Given the description of an element on the screen output the (x, y) to click on. 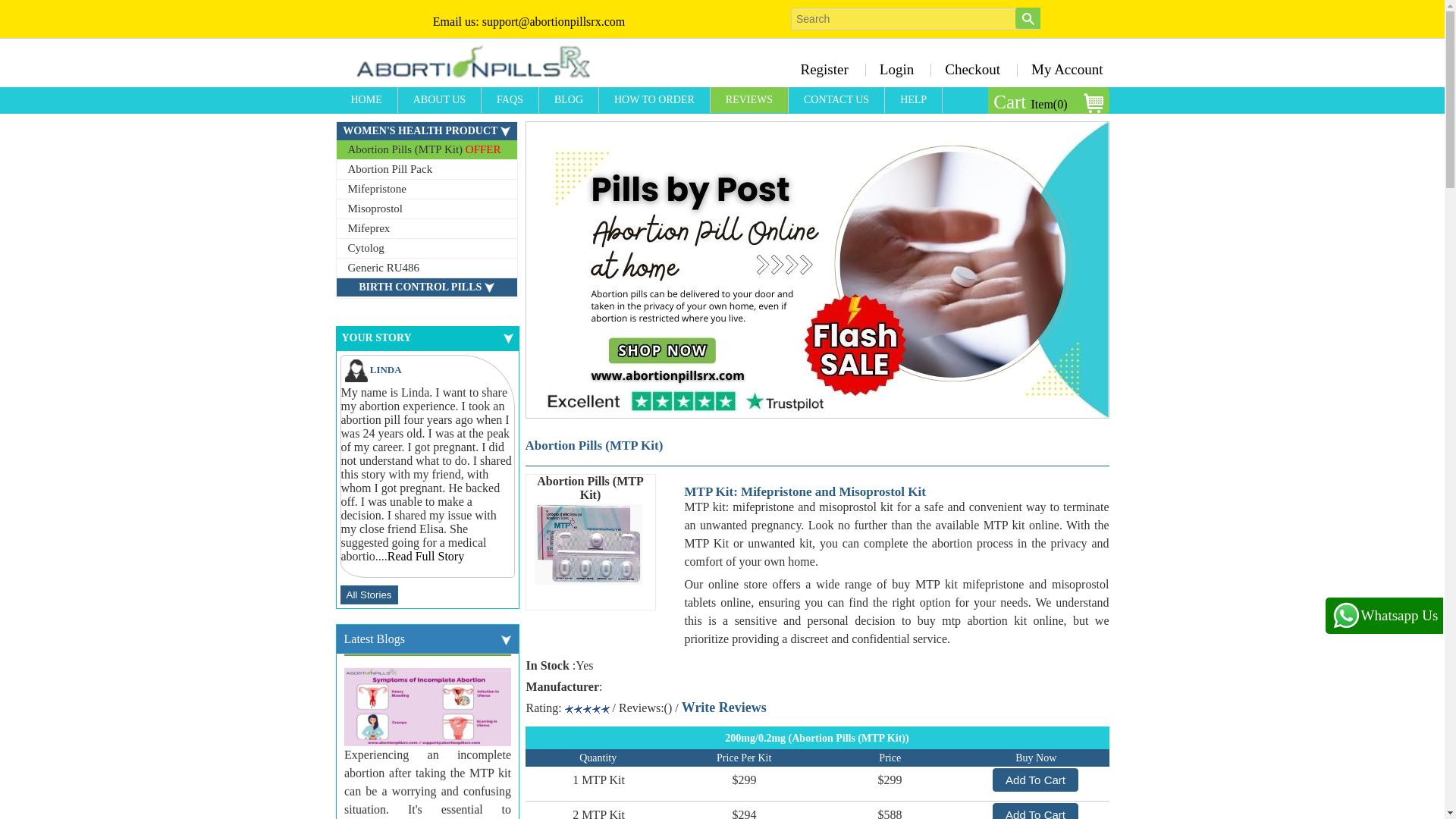
Mifepristone (426, 189)
Generic RU486 (426, 268)
Login (896, 68)
HOME (365, 99)
My Account (1062, 68)
All Stories (368, 594)
REVIEWS (749, 99)
Cytolog (426, 248)
Checkout (972, 68)
Mifeprex (426, 229)
ABOUT US (439, 99)
FAQS (509, 99)
Read Full Story (425, 555)
HOW TO ORDER (654, 99)
CONTACT US (837, 99)
